Given the description of an element on the screen output the (x, y) to click on. 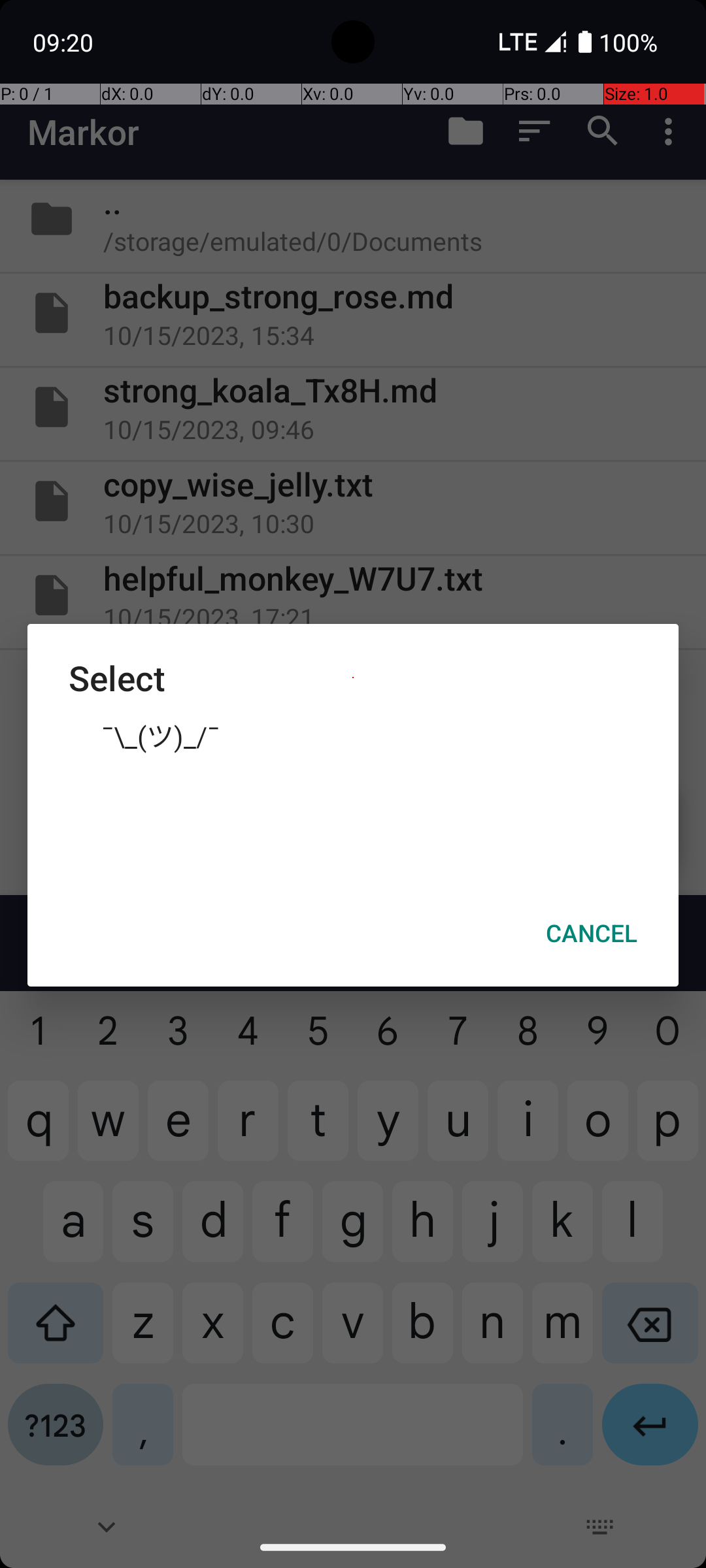
Select Element type: android.widget.TextView (352, 677)
     ¯\_(ツ)_/¯      Element type: android.widget.TextView (352, 734)
09:20 Element type: android.widget.TextView (64, 41)
